Given the description of an element on the screen output the (x, y) to click on. 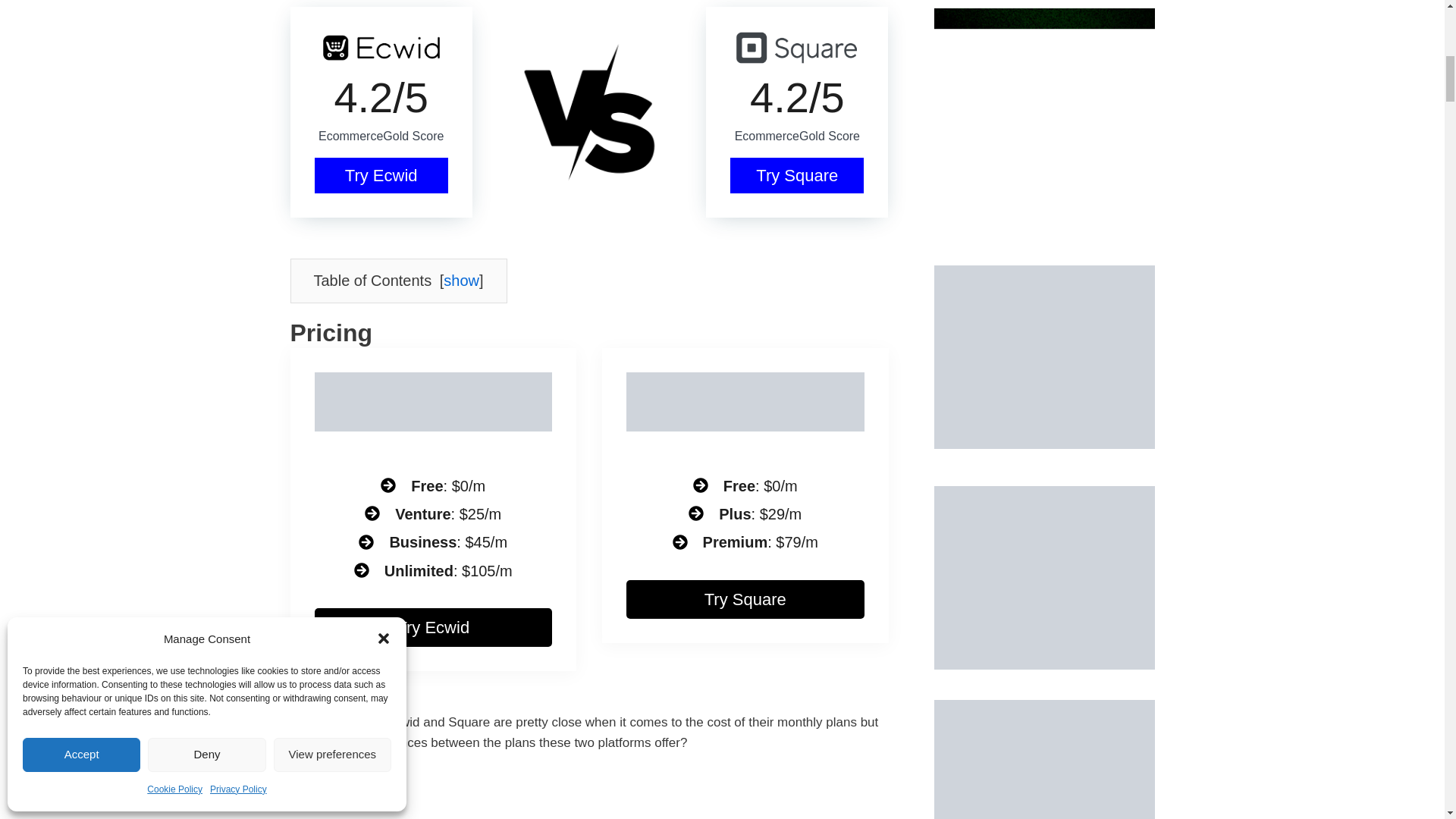
show (461, 280)
Try Square (796, 175)
Try Ecwid (380, 175)
